Given the description of an element on the screen output the (x, y) to click on. 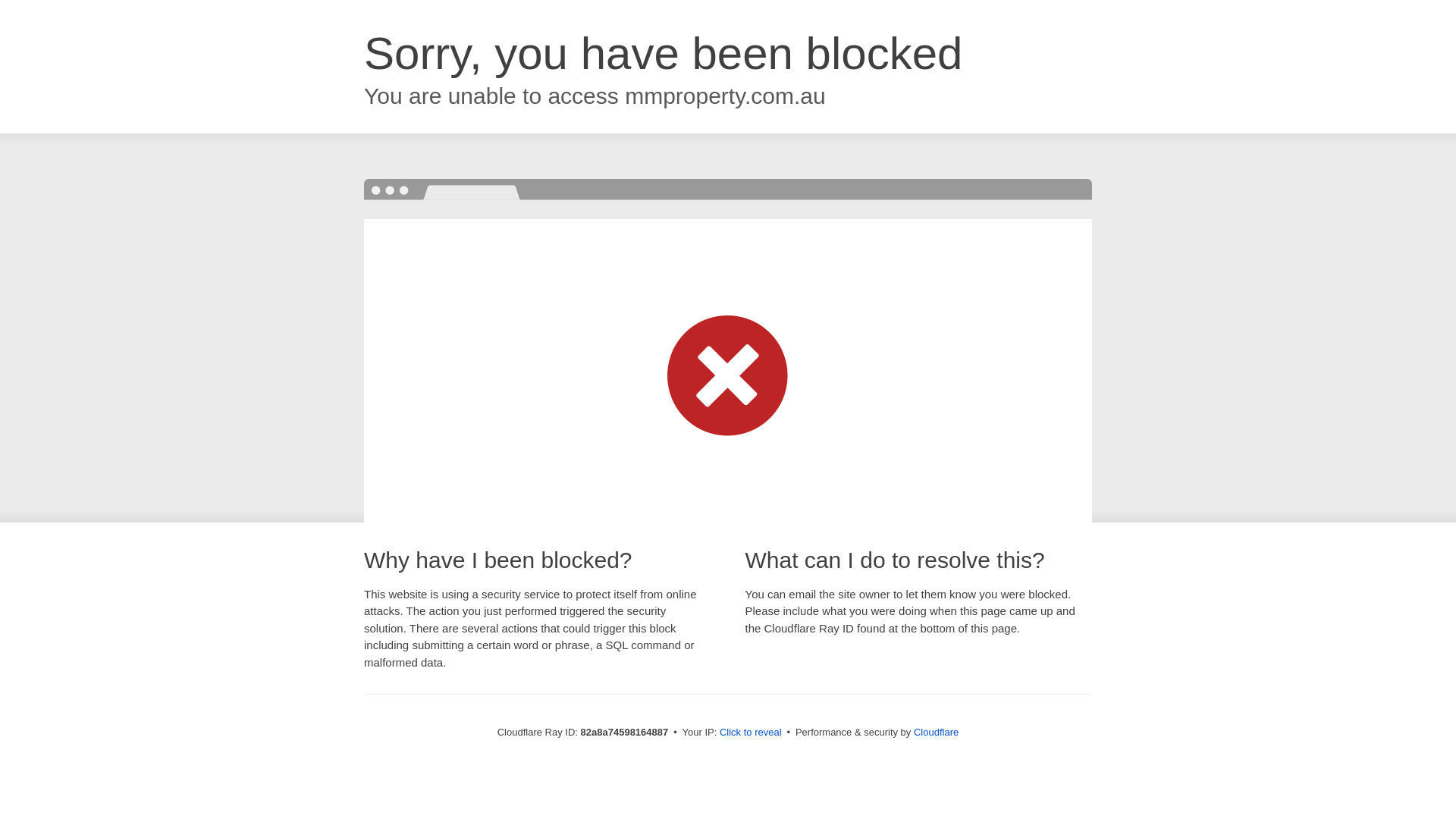
Click to reveal Element type: text (750, 732)
Cloudflare Element type: text (935, 731)
